Given the description of an element on the screen output the (x, y) to click on. 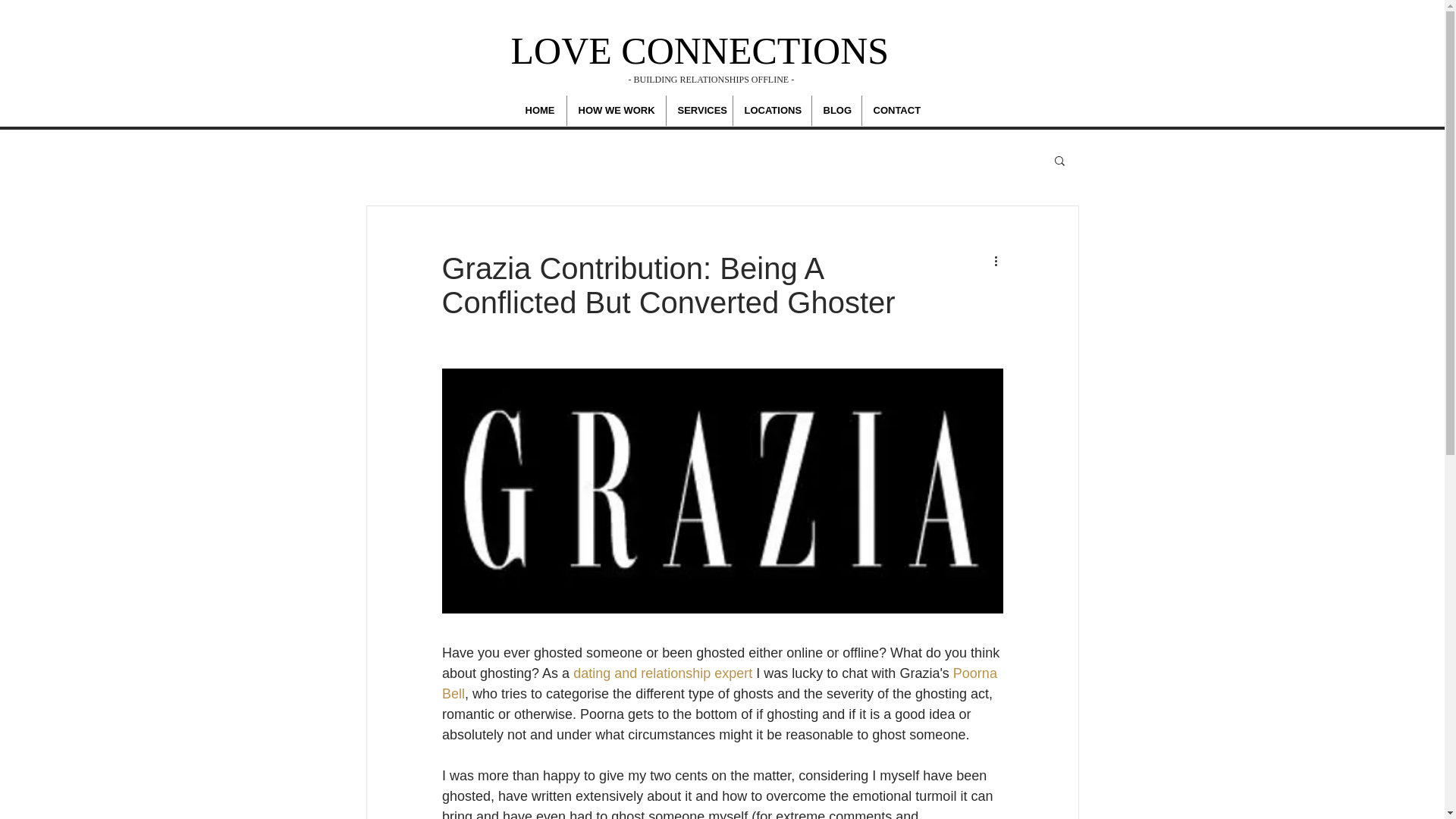
HOME (539, 110)
CONTACT (895, 110)
BLOG (835, 110)
HOW WE WORK (616, 110)
SERVICES (698, 110)
dating and relationship expert (662, 672)
Poorna Bell (720, 683)
LOCATIONS (771, 110)
